Given the description of an element on the screen output the (x, y) to click on. 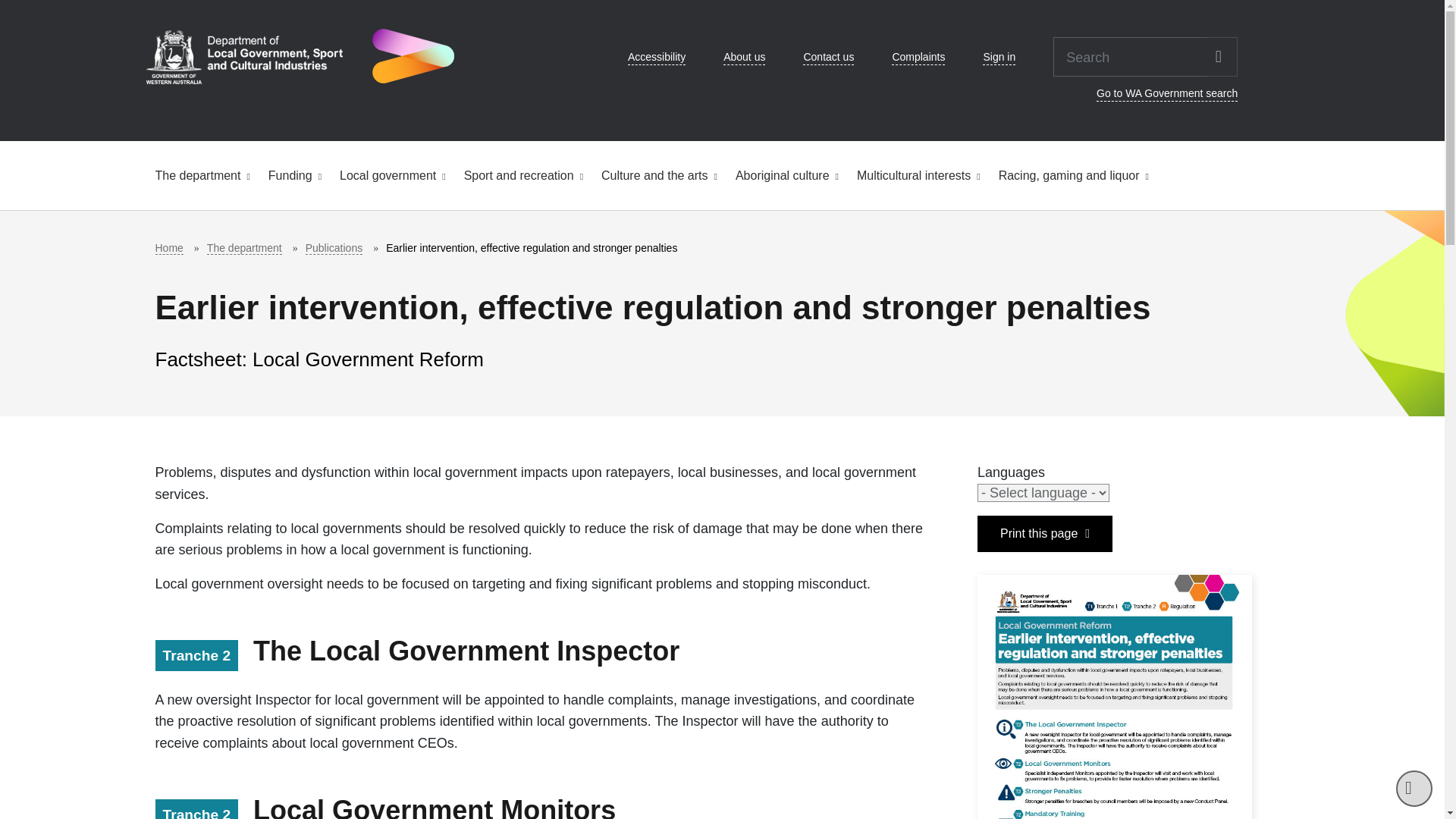
Go to the dlgsc.gov.au homepage (298, 56)
Back to top (1414, 788)
Search input (1129, 56)
